Given the description of an element on the screen output the (x, y) to click on. 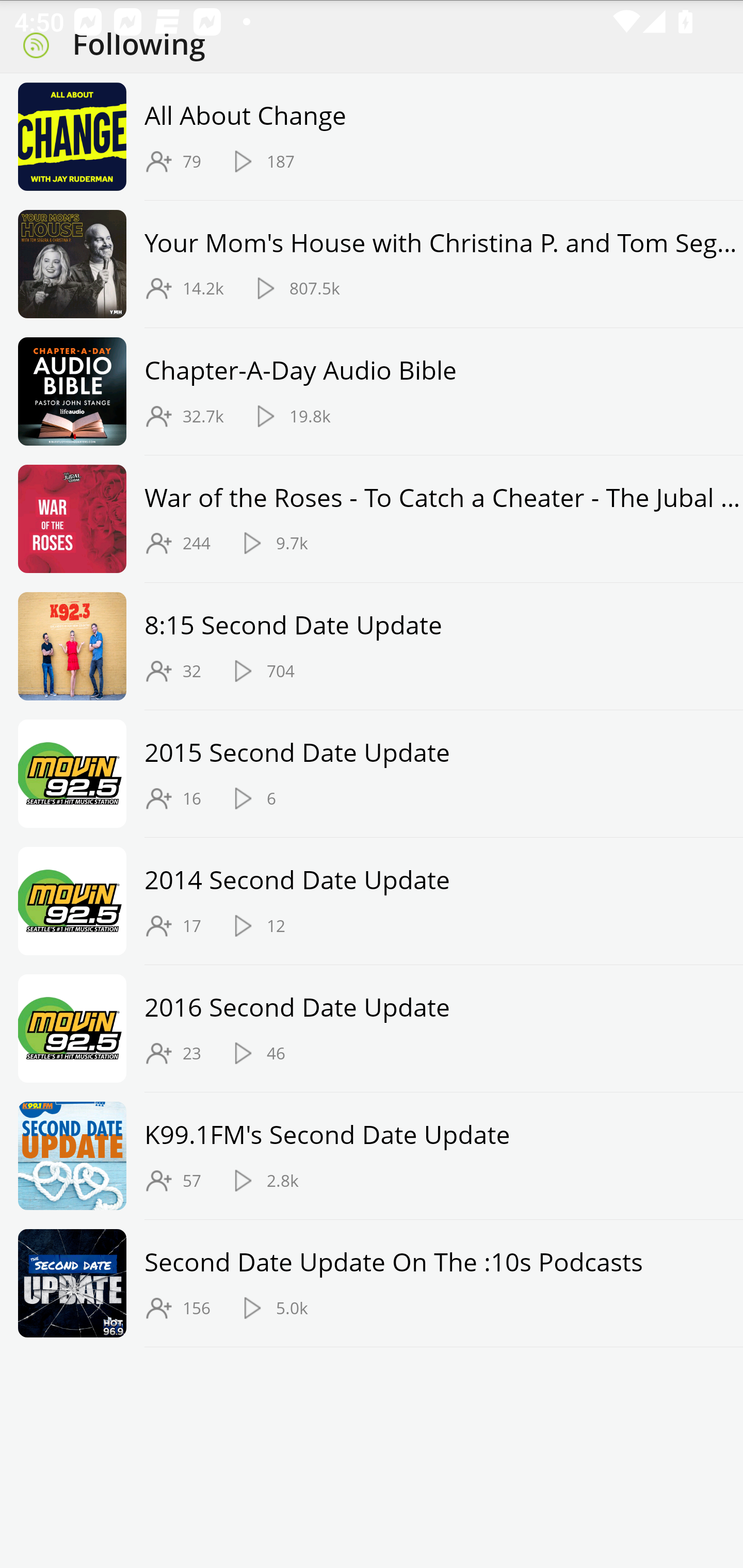
All About Change 79 187 (371, 136)
Chapter-A-Day Audio Bible 32.7k 19.8k (371, 390)
8:15 Second Date Update 32 704 (371, 646)
2015 Second Date Update 16 6 (371, 773)
2014 Second Date Update 17 12 (371, 900)
2016 Second Date Update 23 46 (371, 1028)
K99.1FM's Second Date Update 57 2.8k (371, 1155)
Second Date Update On The :10s Podcasts 156 5.0k (371, 1282)
